Given the description of an element on the screen output the (x, y) to click on. 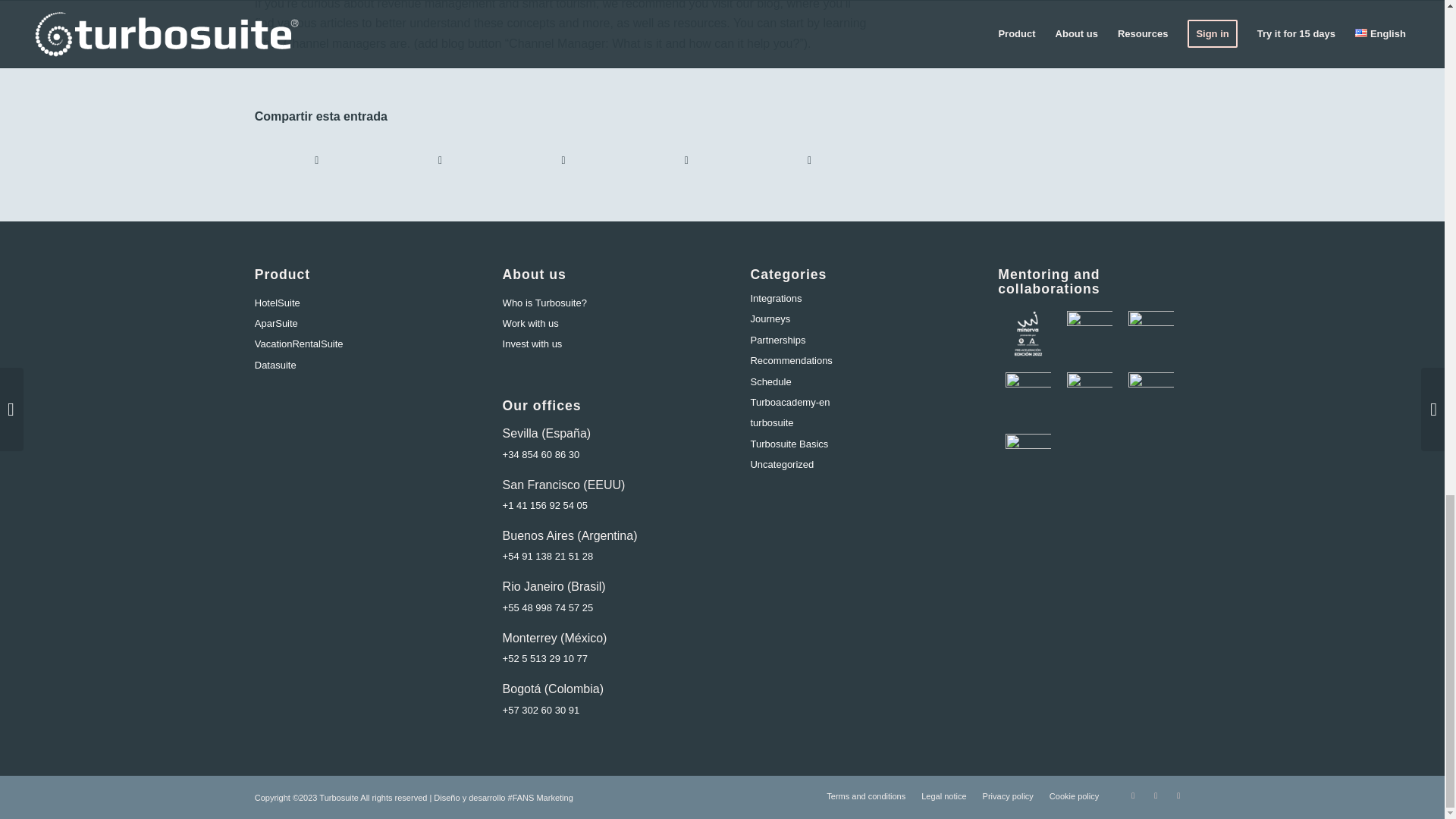
logo tourism hub costa sol (1089, 333)
logo innventuur (1150, 333)
logo minerva (1027, 333)
